Given the description of an element on the screen output the (x, y) to click on. 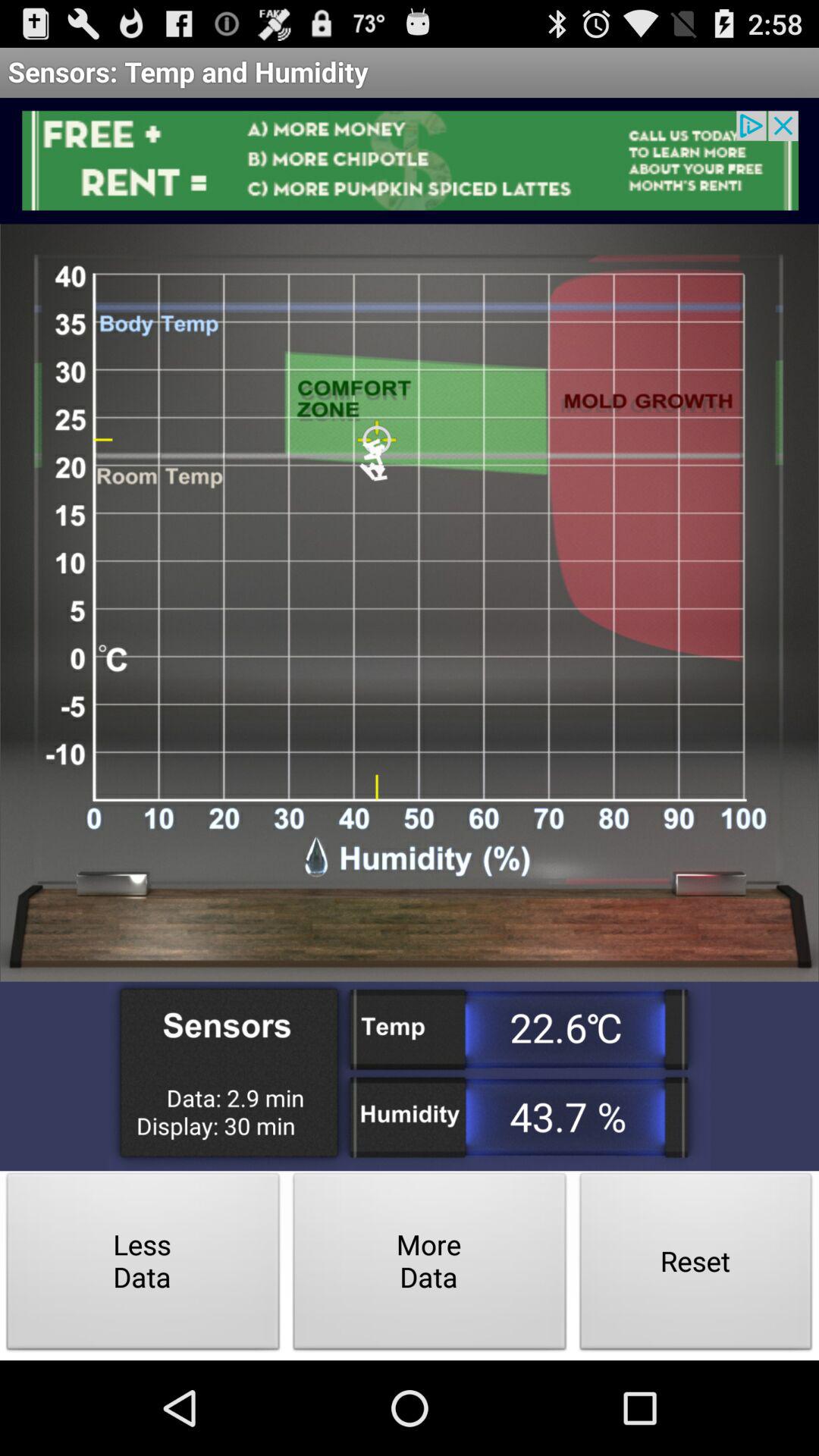
swipe until the more
data item (429, 1265)
